Given the description of an element on the screen output the (x, y) to click on. 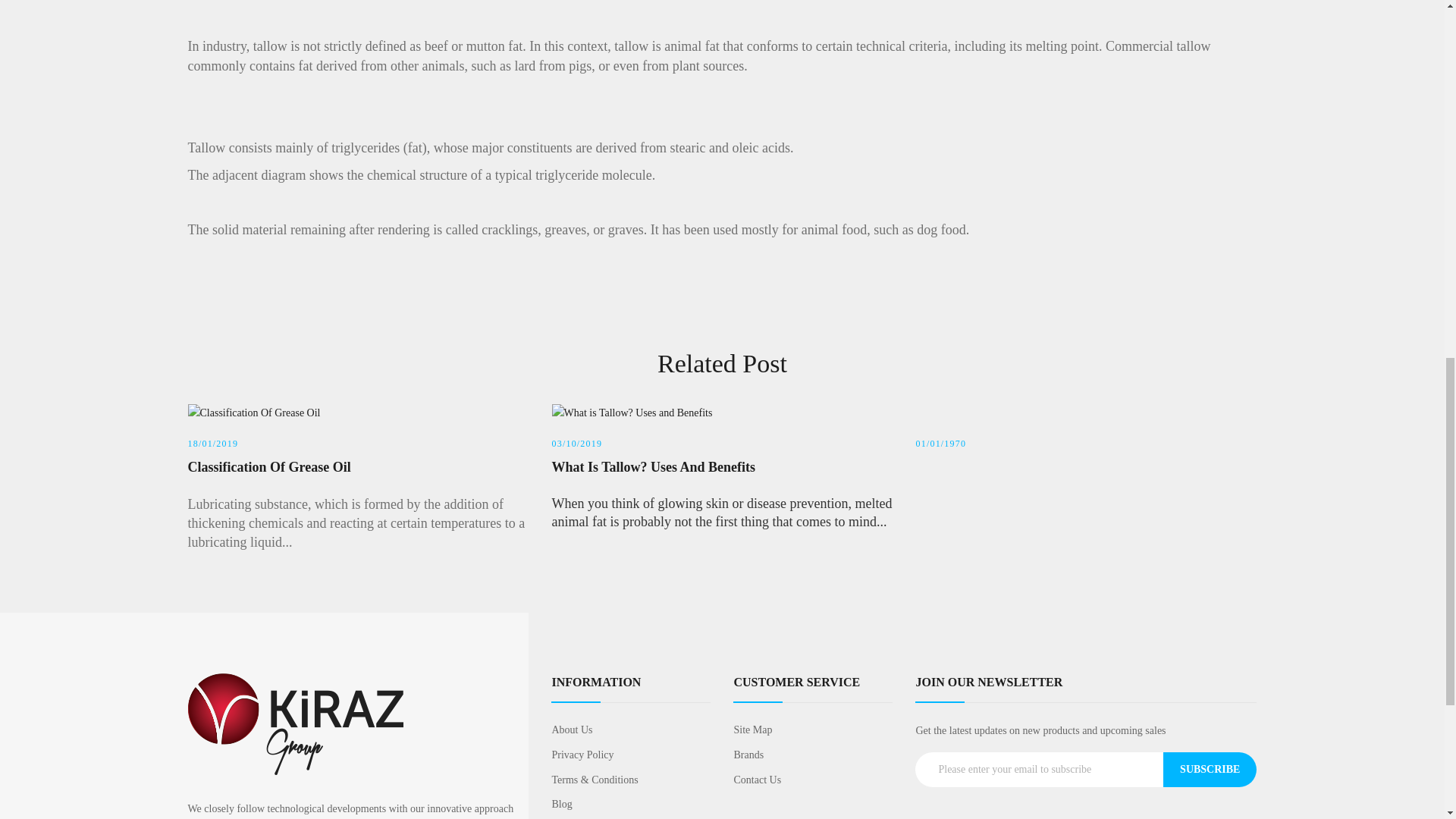
Classification Of Grease Oil (358, 467)
What Is Tallow? Uses And Benefits (722, 467)
